Given the description of an element on the screen output the (x, y) to click on. 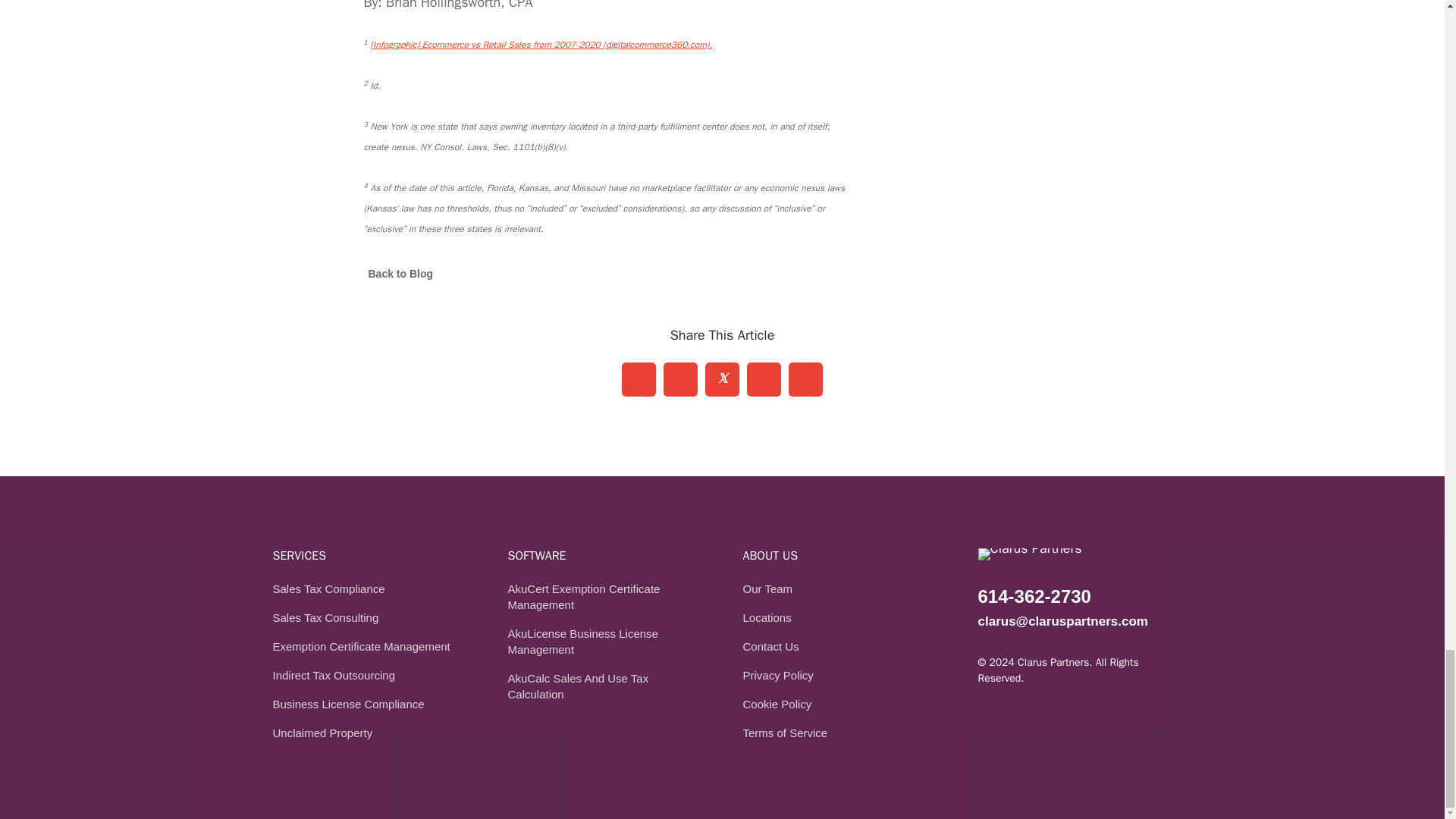
logo (1029, 553)
